Given the description of an element on the screen output the (x, y) to click on. 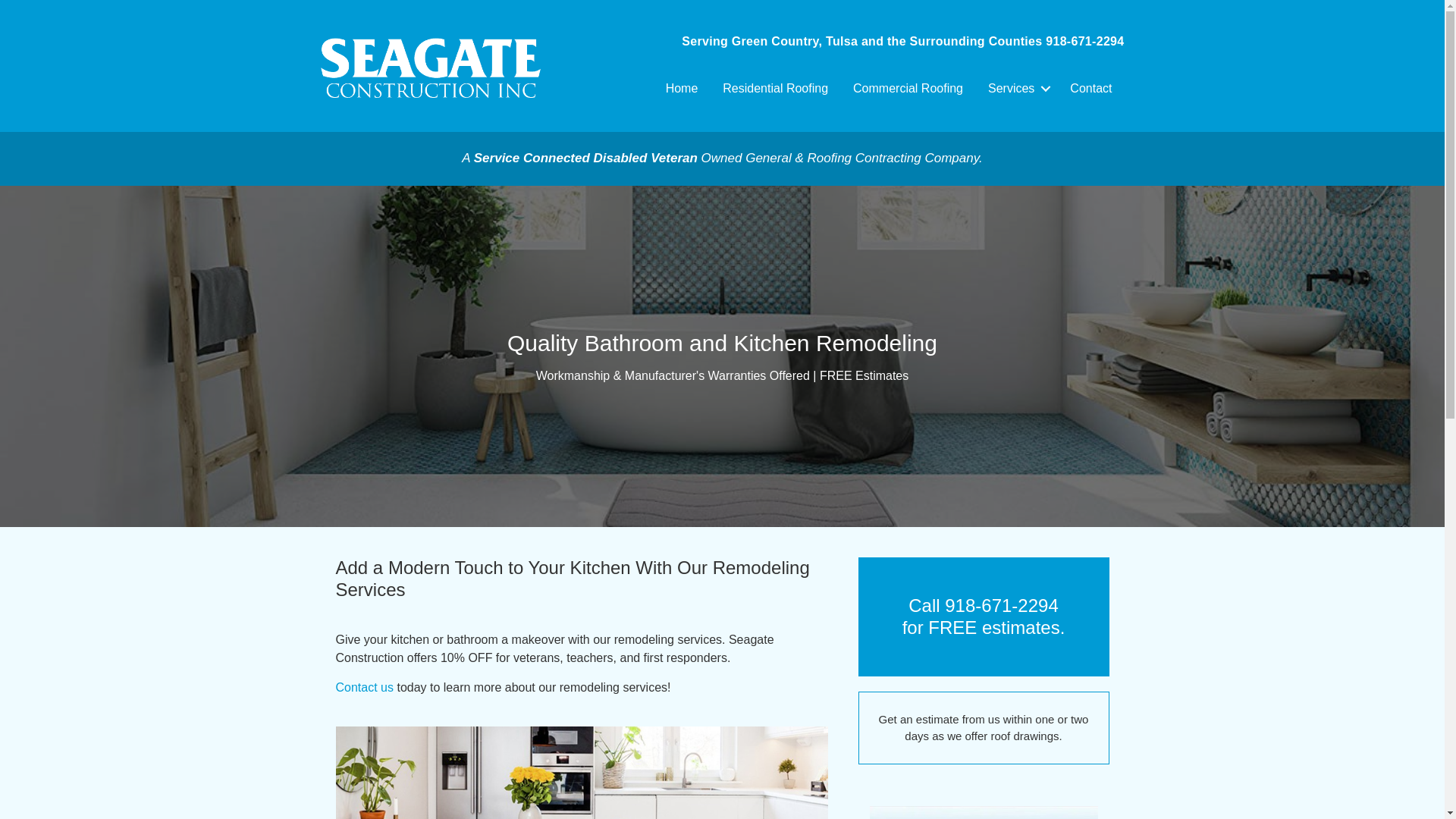
Bathroom Kitchen (580, 772)
Services (1016, 87)
Contact (1091, 87)
Home (681, 87)
Commercial Roofing (908, 87)
Contact us (363, 686)
Residential Roofing (775, 87)
logo (430, 67)
